Given the description of an element on the screen output the (x, y) to click on. 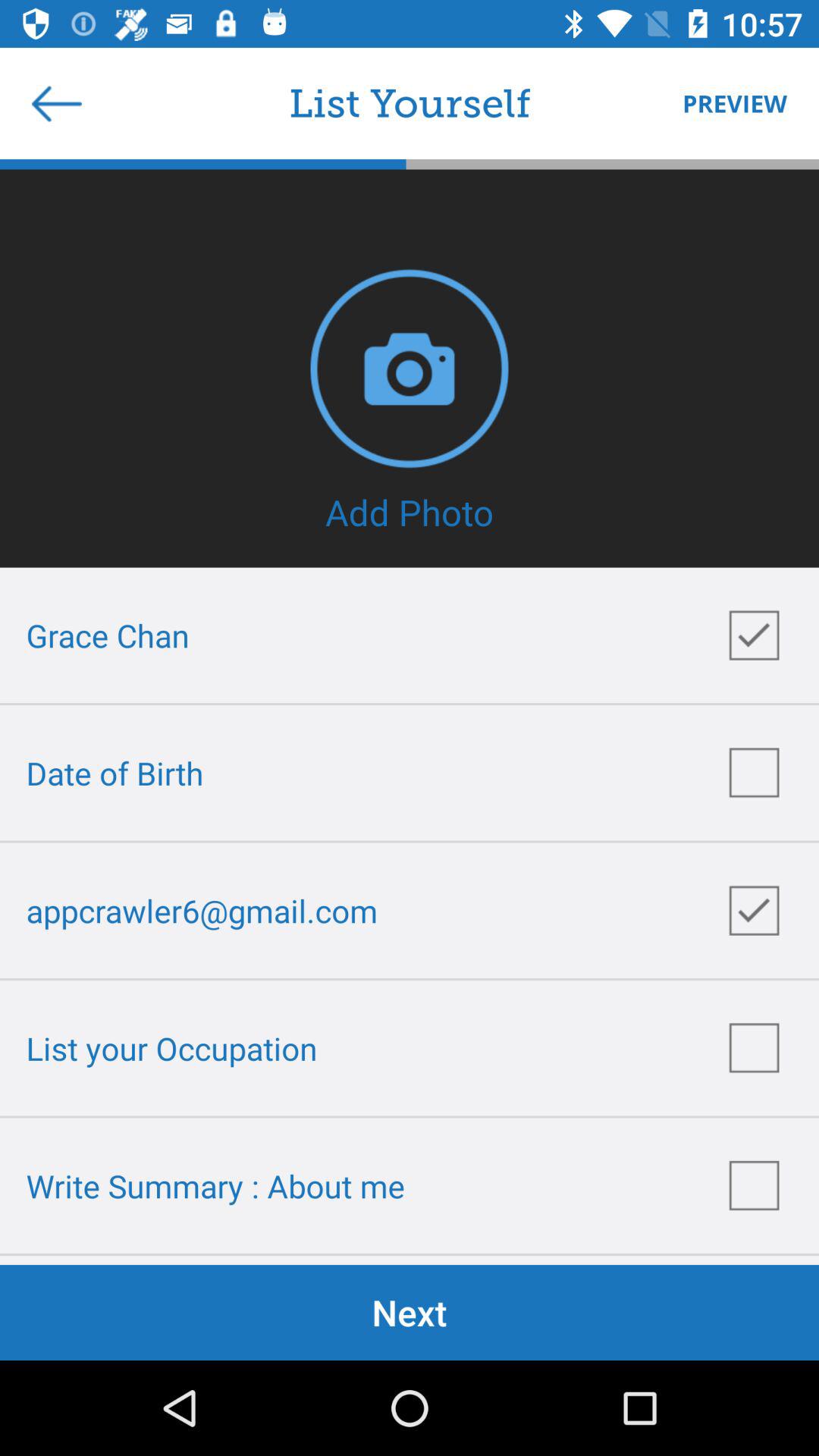
tap the icon next to list yourself item (727, 103)
